Given the description of an element on the screen output the (x, y) to click on. 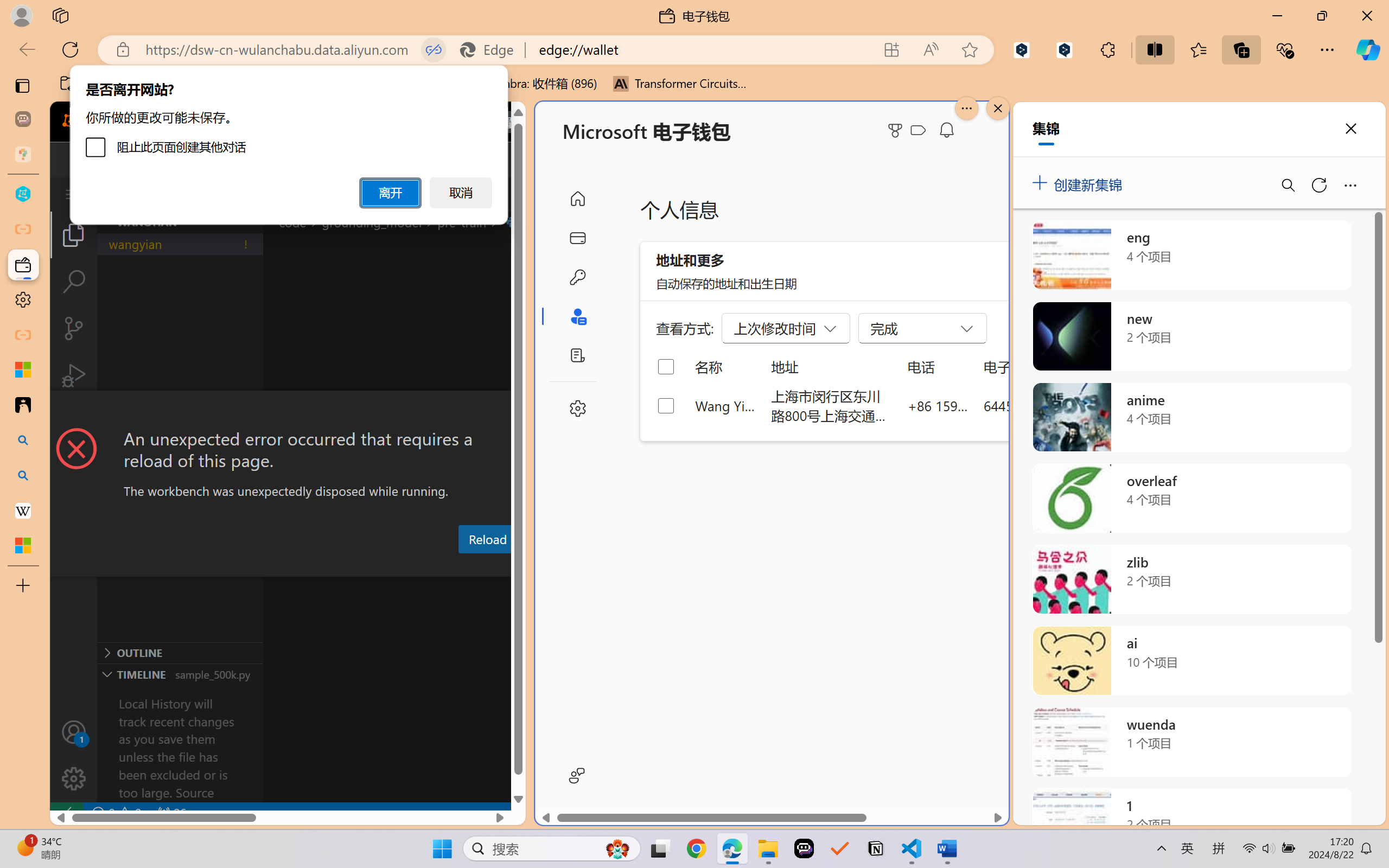
No Problems (115, 812)
